Given the description of an element on the screen output the (x, y) to click on. 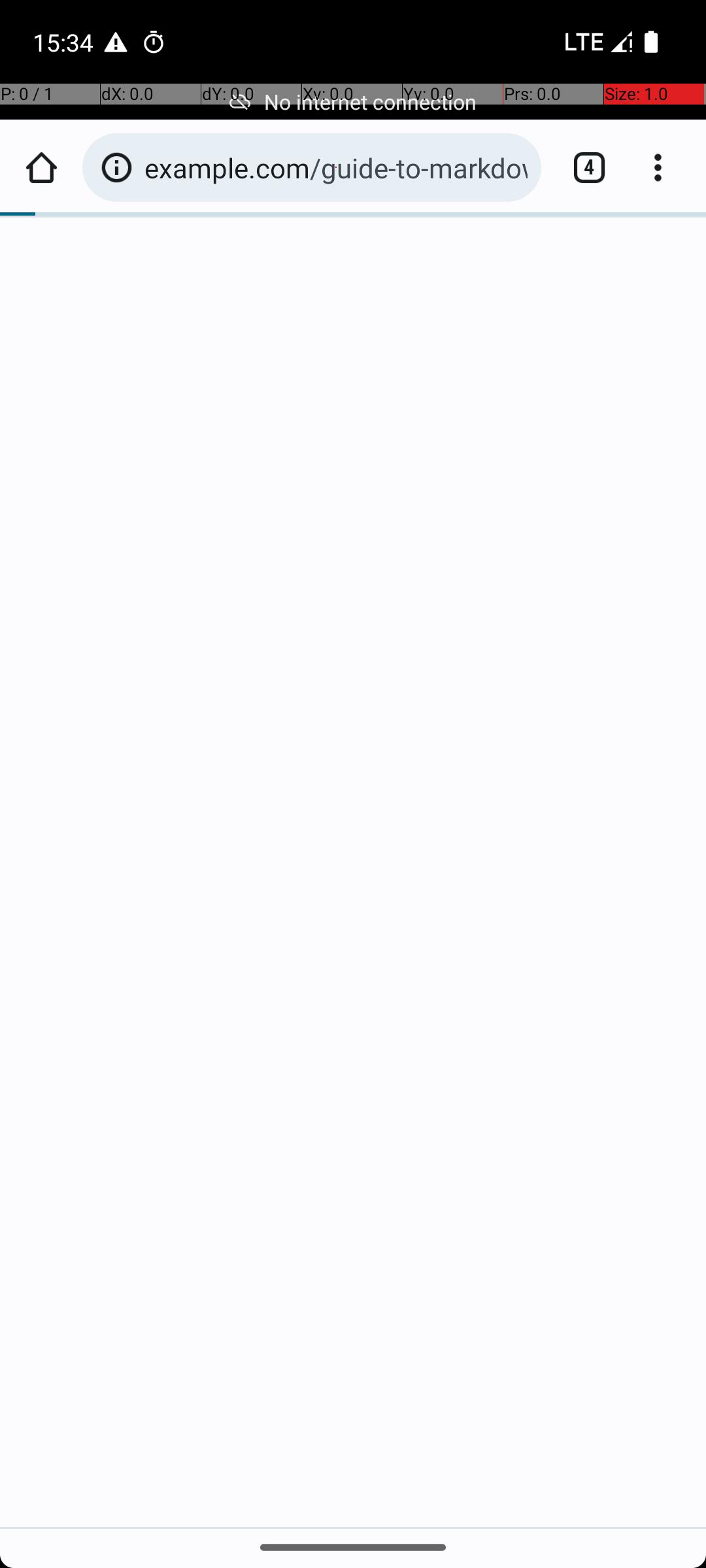
example.com/guide-to-markdown Element type: android.widget.EditText (335, 167)
